Given the description of an element on the screen output the (x, y) to click on. 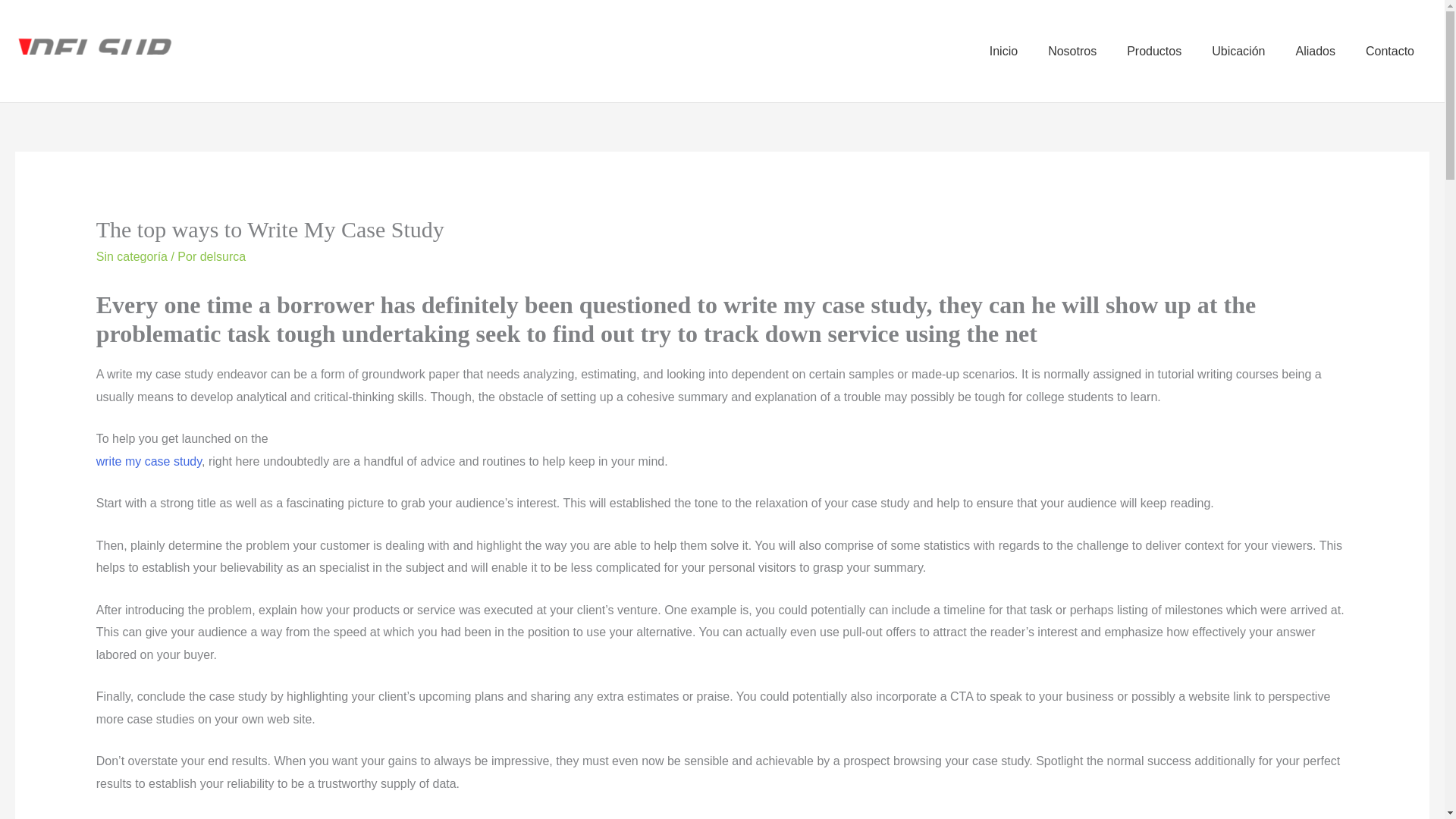
Inicio (1003, 50)
write my case study (149, 461)
delsurca (223, 256)
Ver todas las entradas de delsurca (223, 256)
Nosotros (1072, 50)
Aliados (1314, 50)
Contacto (1390, 50)
Productos (1154, 50)
